Given the description of an element on the screen output the (x, y) to click on. 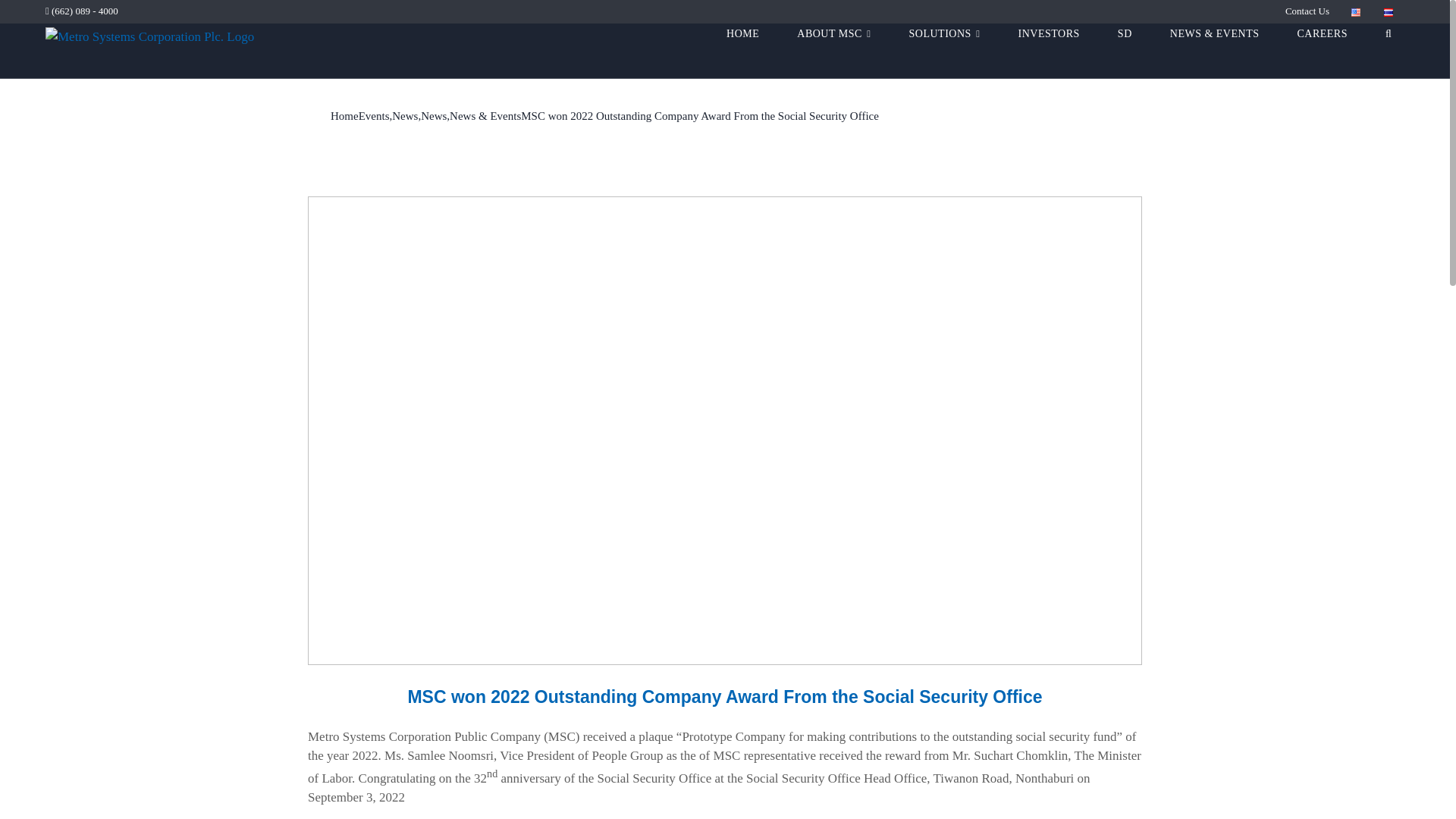
Contact Us (1307, 11)
Contact Us (1307, 11)
ABOUT MSC (833, 51)
SOLUTIONS (943, 51)
ABOUT MSC (833, 51)
